Given the description of an element on the screen output the (x, y) to click on. 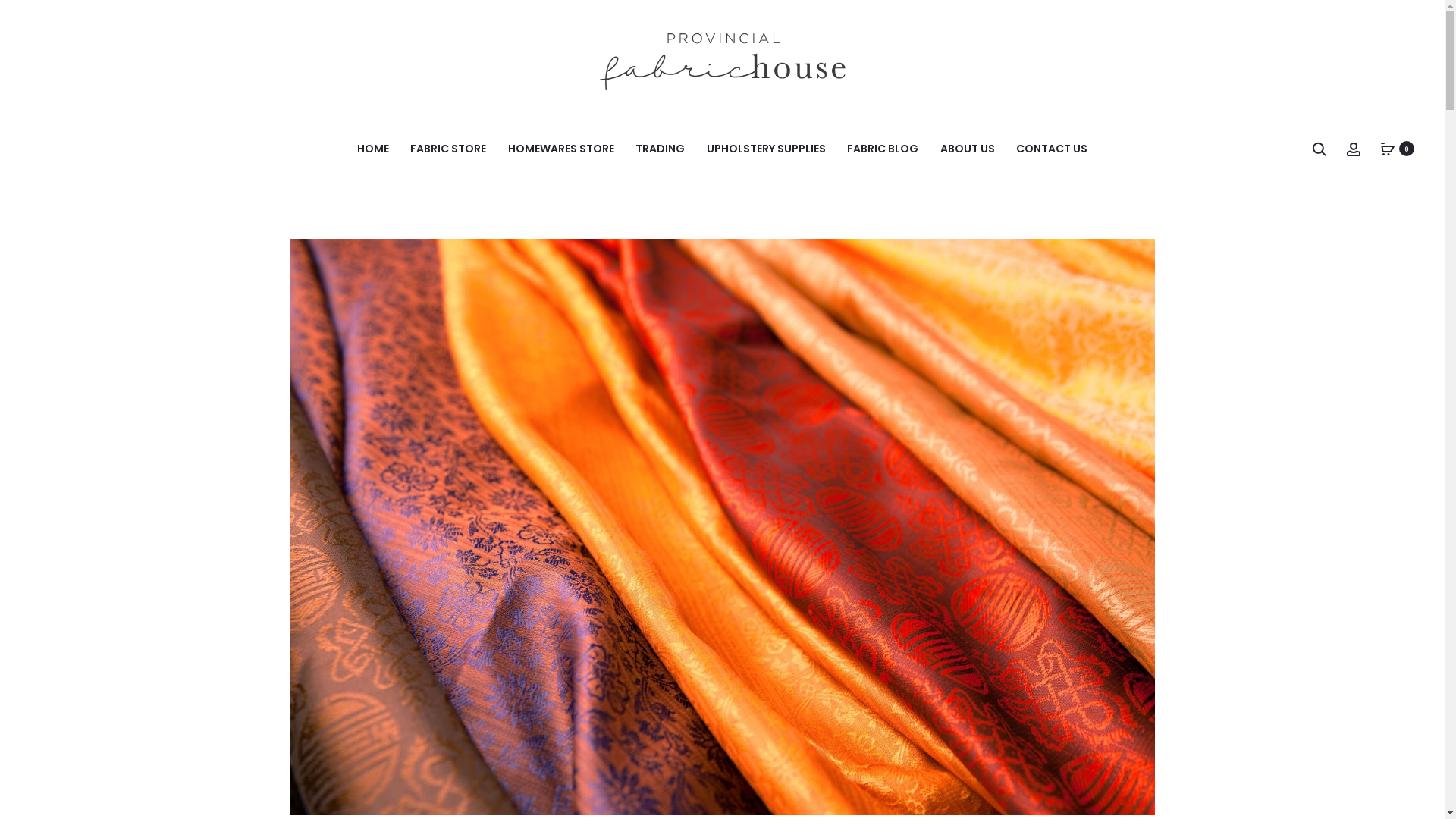
UPHOLSTERY SUPPLIES Element type: text (765, 148)
HOMEWARES STORE Element type: text (561, 148)
TRADING Element type: text (659, 148)
HOME Element type: text (373, 148)
CONTACT US Element type: text (1051, 148)
ABOUT US Element type: text (967, 148)
FABRIC STORE Element type: text (448, 148)
FABRIC BLOG Element type: text (882, 148)
0 Element type: text (1387, 147)
